Given the description of an element on the screen output the (x, y) to click on. 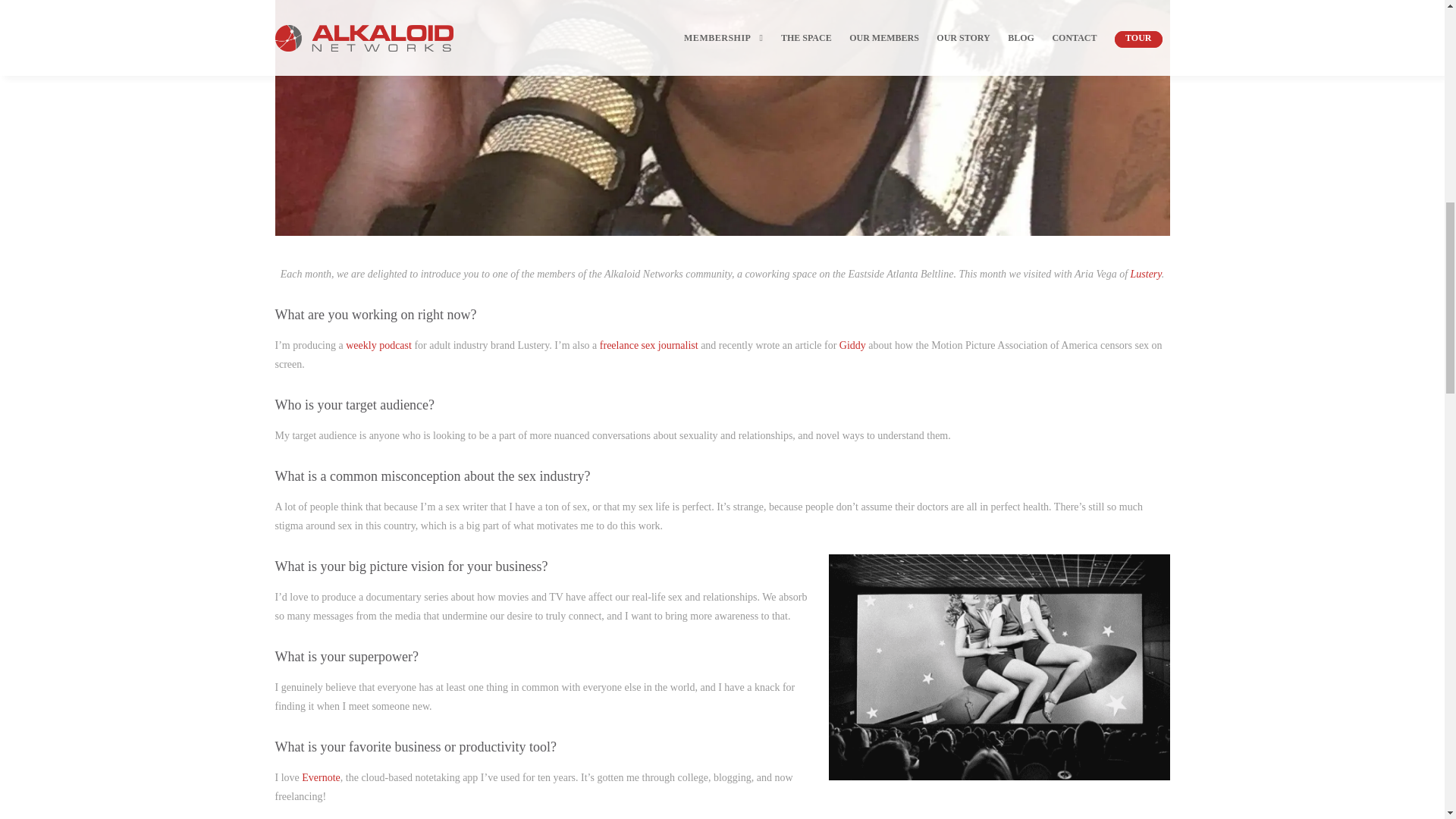
Giddy (853, 345)
freelance sex journalist (649, 345)
Lustery (1146, 274)
weekly podcast (379, 345)
Evernote (320, 777)
